Given the description of an element on the screen output the (x, y) to click on. 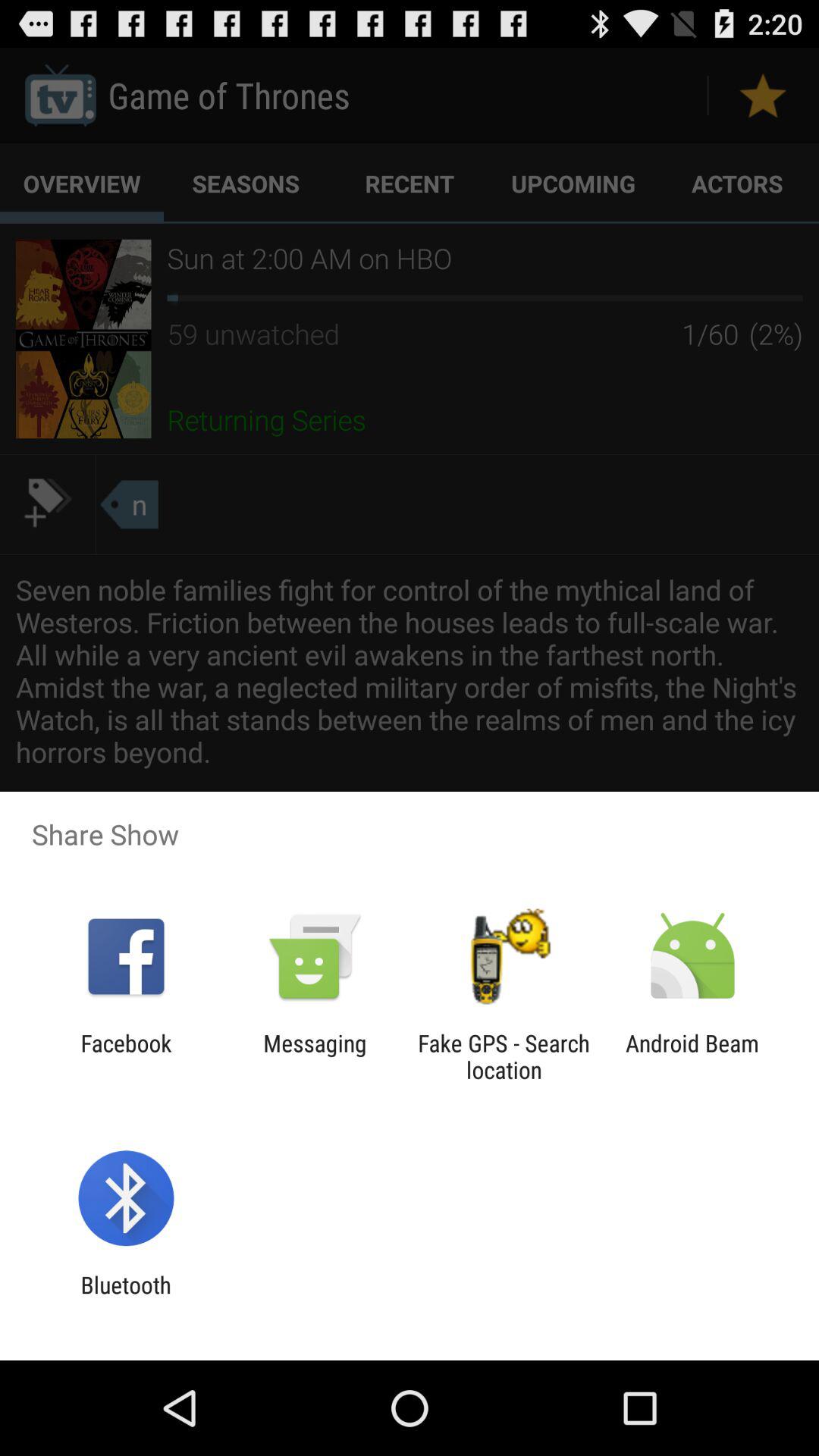
open item to the left of the messaging app (125, 1056)
